Given the description of an element on the screen output the (x, y) to click on. 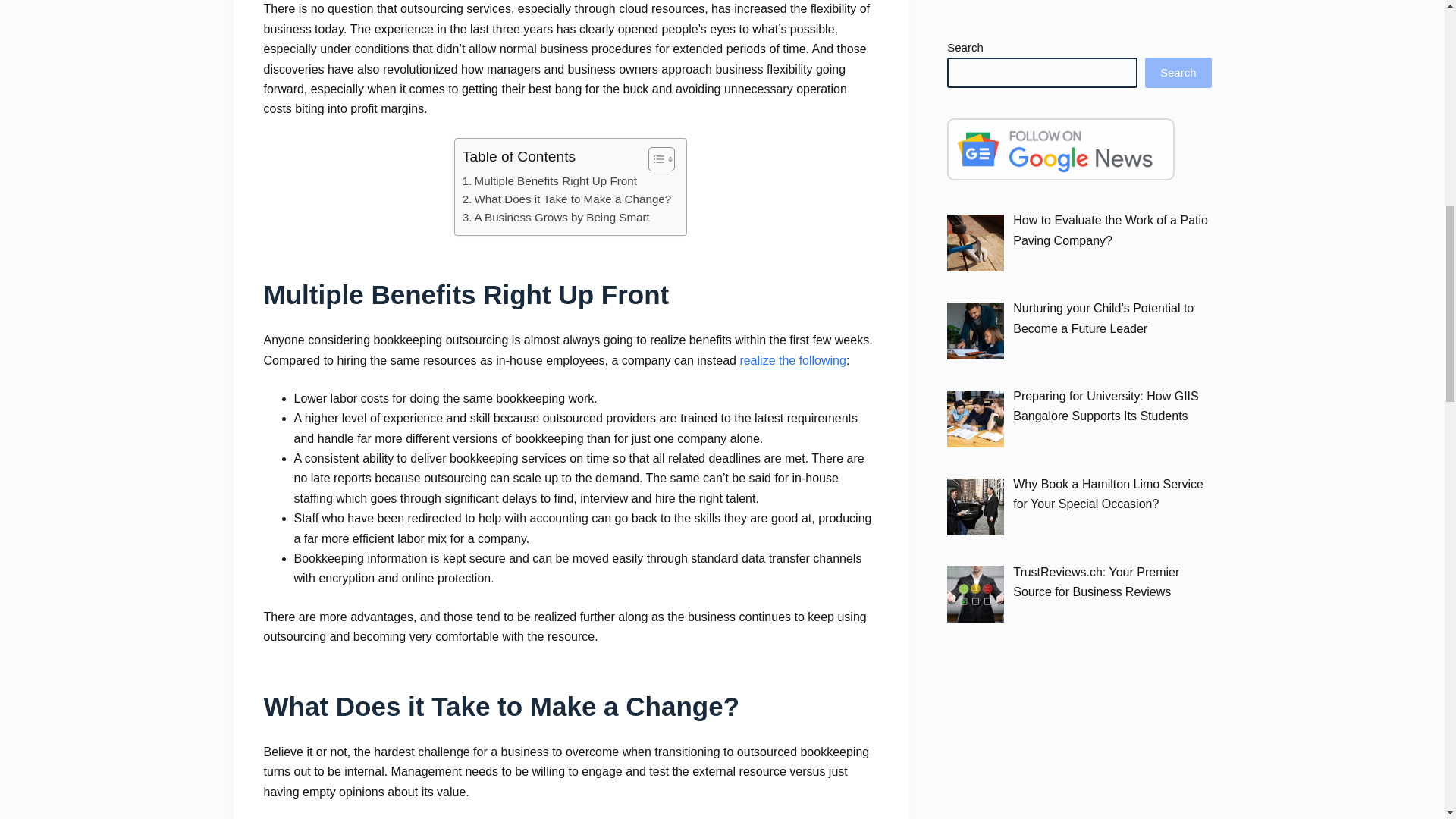
A Business Grows by Being Smart (556, 217)
What Does it Take to Make a Change? (567, 199)
Multiple Benefits Right Up Front (550, 180)
